Given the description of an element on the screen output the (x, y) to click on. 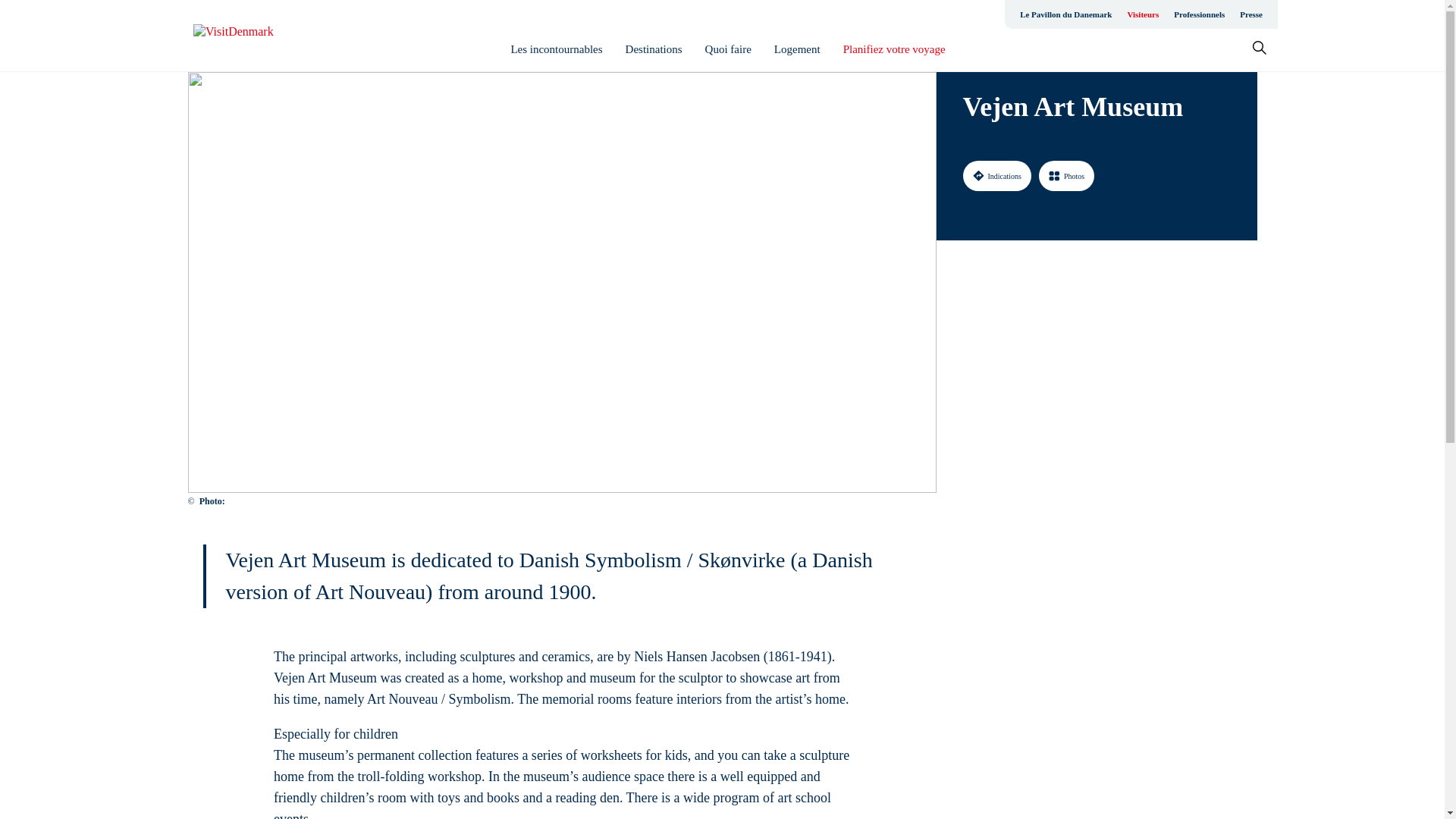
Presse (1250, 14)
Le Pavillon du Danemark (1065, 14)
Visiteurs (1142, 14)
Planifiez votre voyage (893, 49)
Quoi faire (727, 49)
Destinations (654, 49)
Les incontournables (556, 49)
Photos (1066, 175)
Indications (996, 175)
Professionnels (1198, 14)
Logement (797, 49)
